Given the description of an element on the screen output the (x, y) to click on. 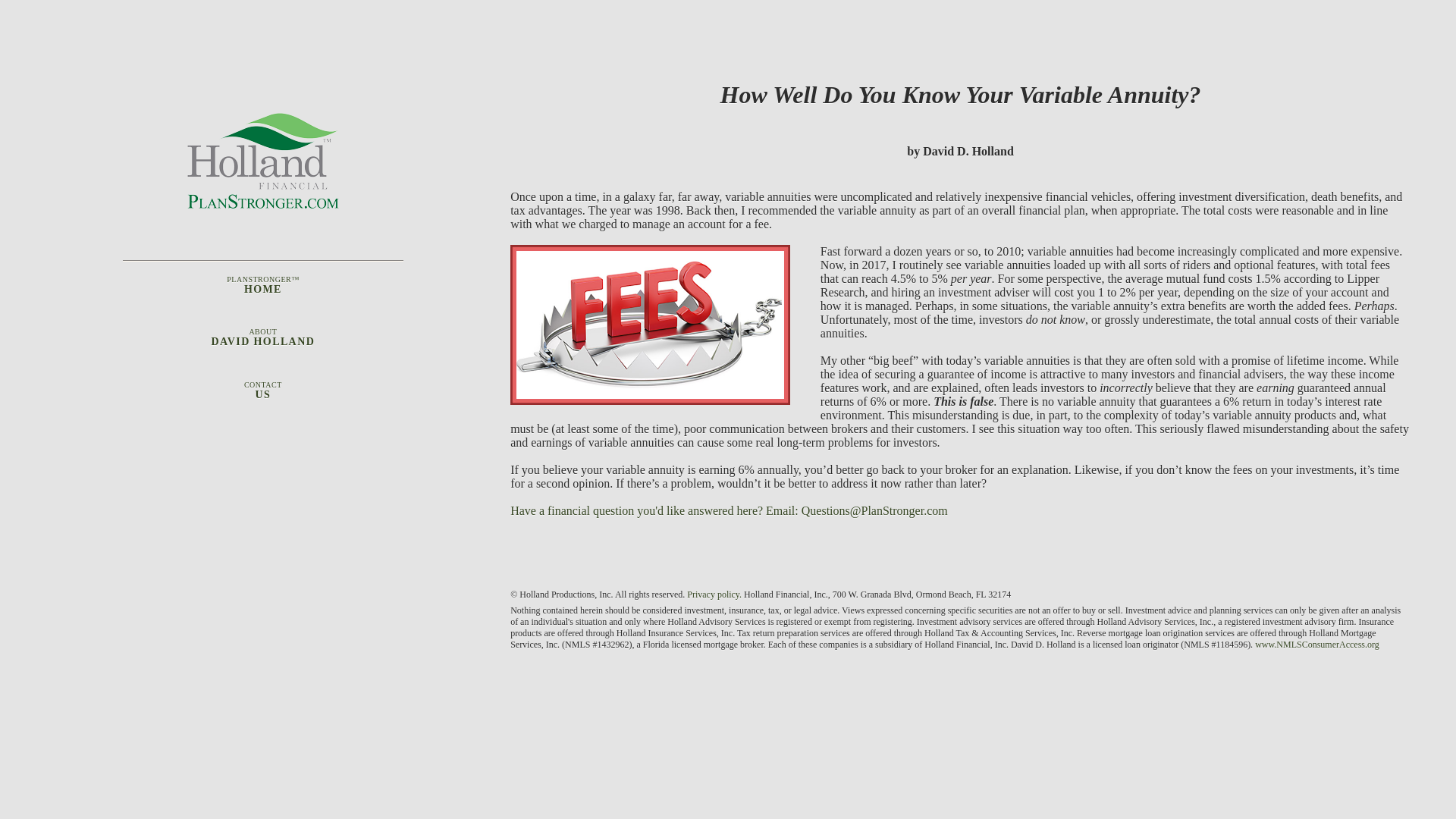
Privacy policy. (262, 402)
www.NMLSConsumerAccess.org (714, 593)
